Given the description of an element on the screen output the (x, y) to click on. 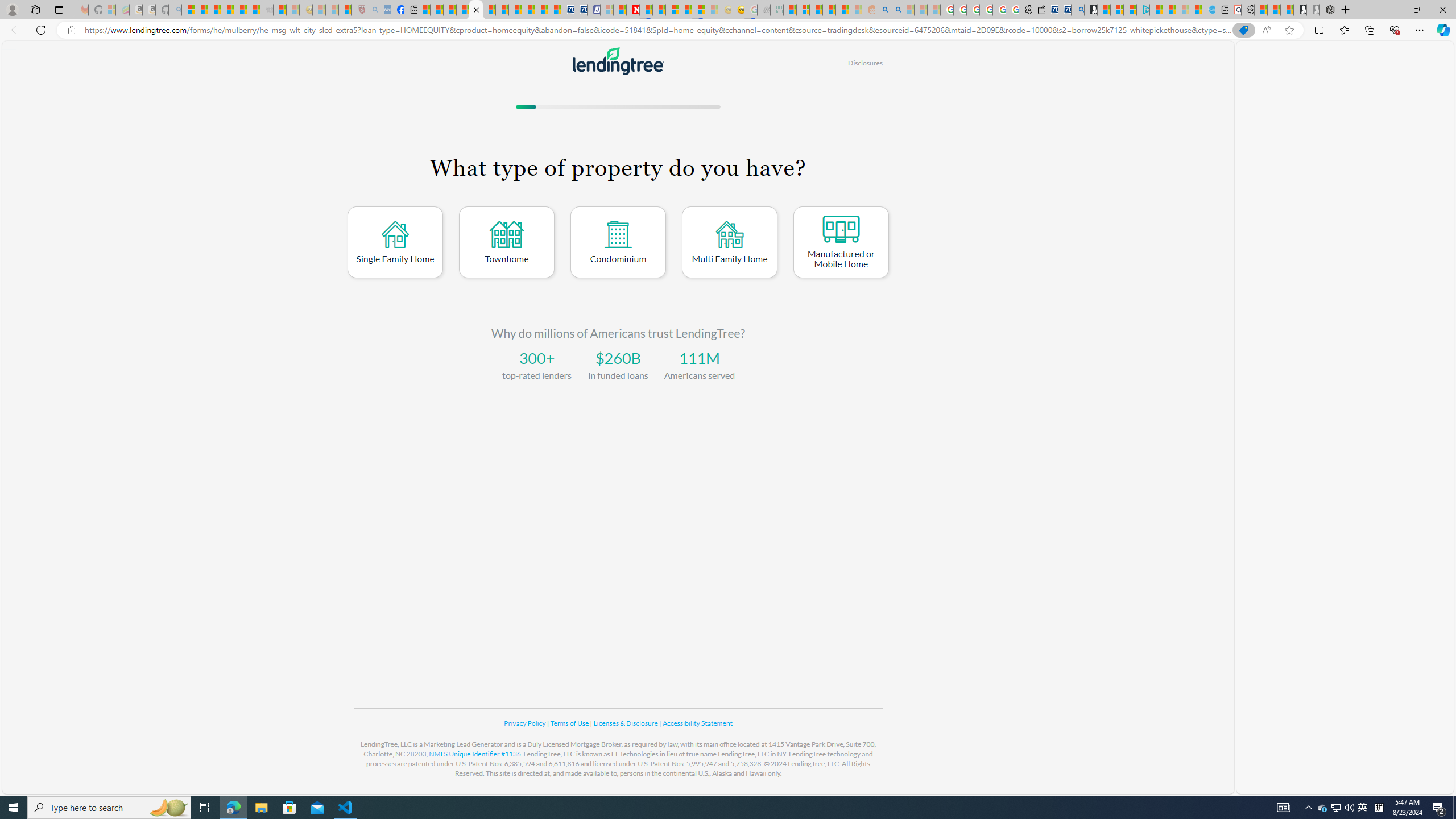
Licenses & Disclosure  (625, 723)
Combat Siege - Sleeping (266, 9)
Privacy Policy  (525, 723)
LendingTree - Compare Lenders (475, 9)
